Given the description of an element on the screen output the (x, y) to click on. 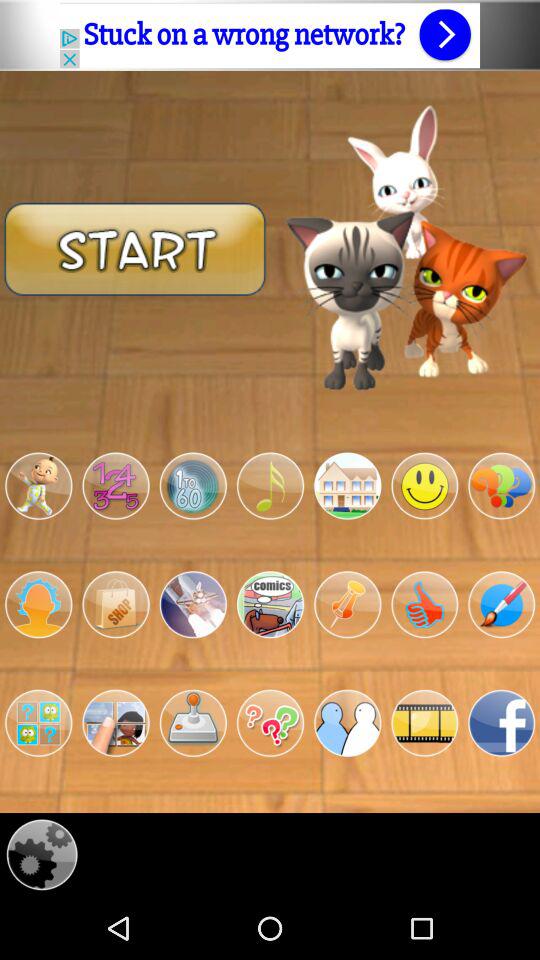
go to advertisers website (270, 35)
